Given the description of an element on the screen output the (x, y) to click on. 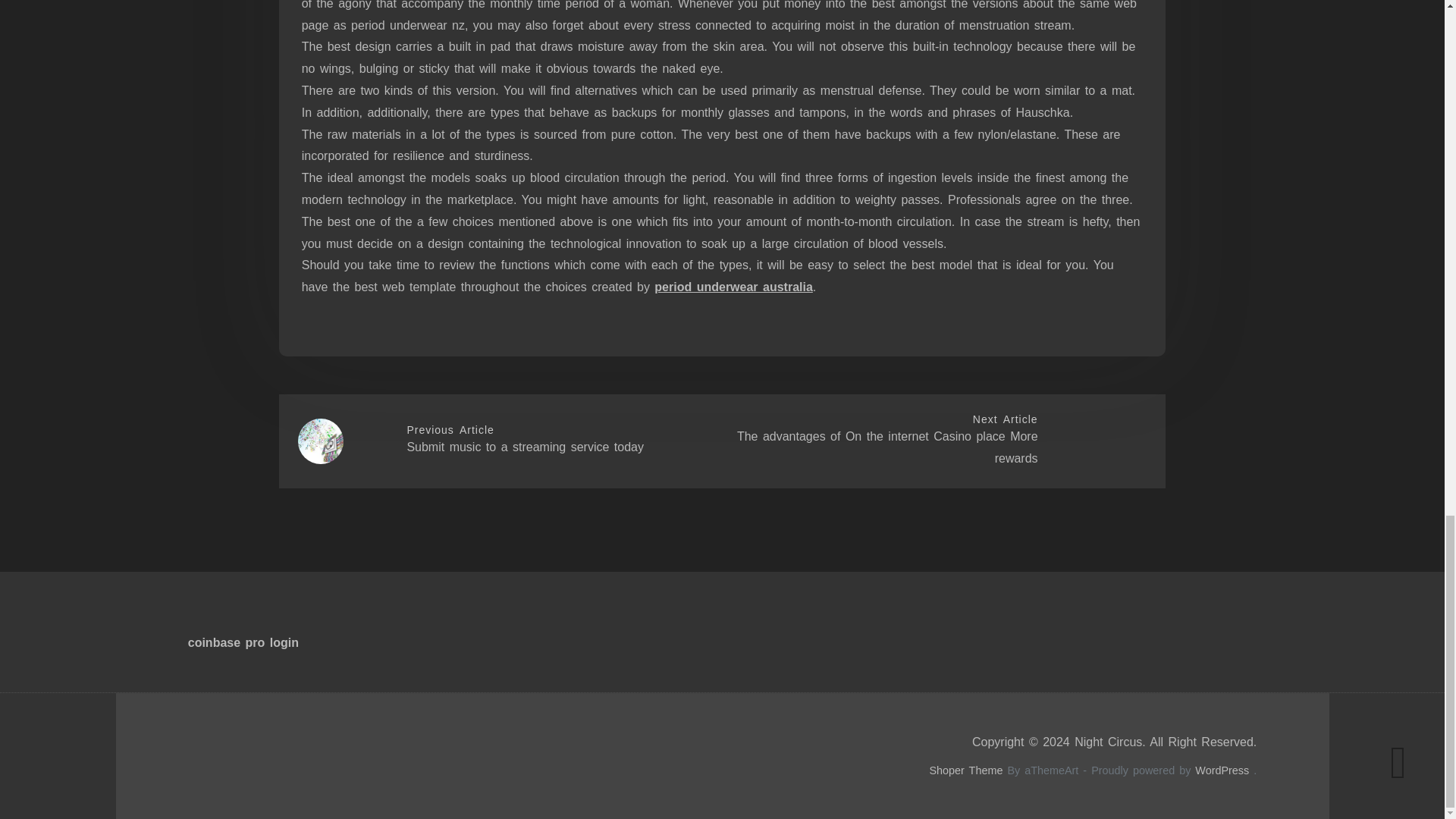
coinbase pro login (242, 642)
Shoper Theme (965, 770)
Submit music to a streaming service today (524, 446)
WordPress (1222, 770)
period underwear australia (732, 286)
The advantages of On the internet Casino place More rewards (887, 447)
